Given the description of an element on the screen output the (x, y) to click on. 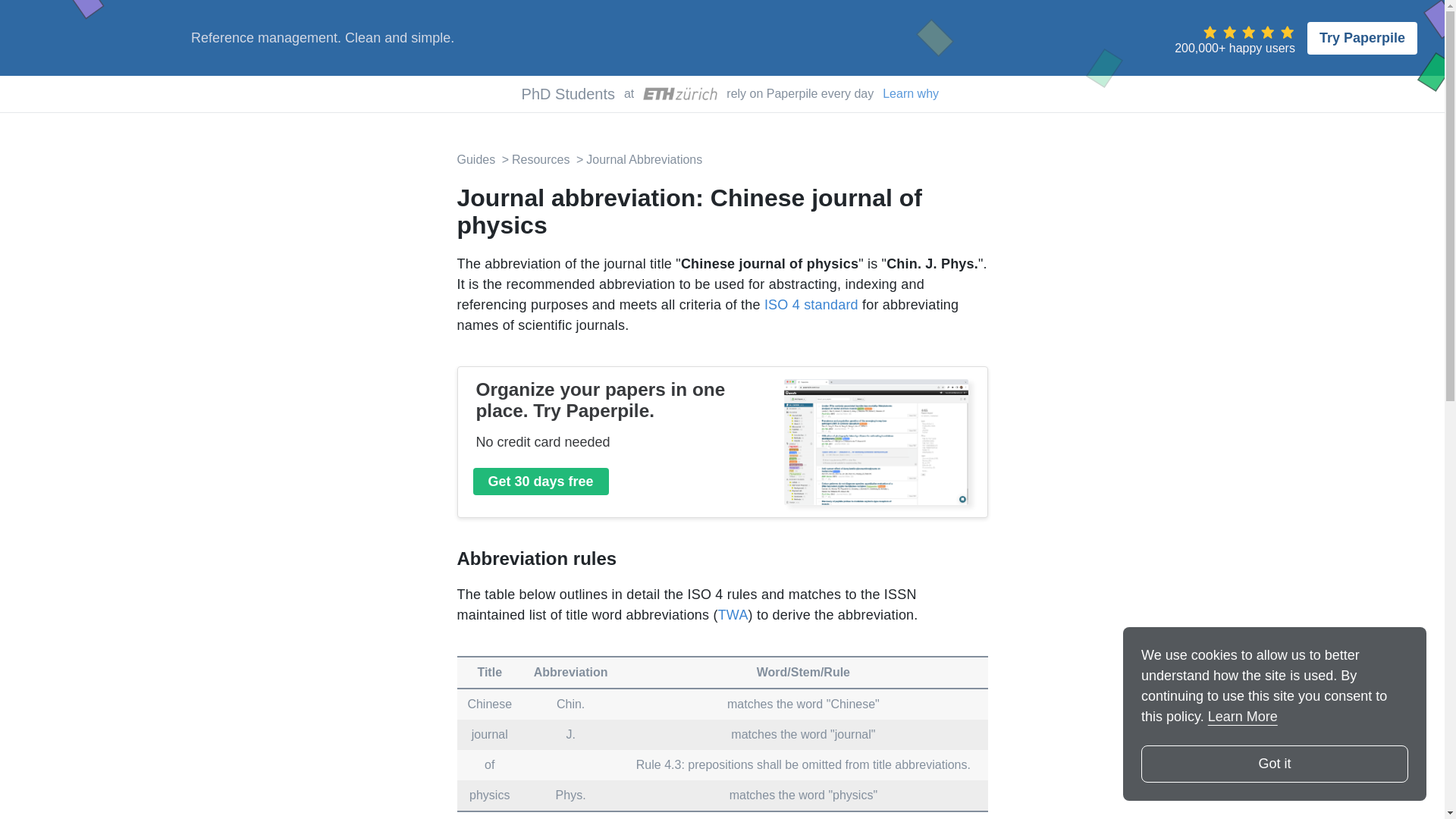
Learn why (910, 93)
Reference management. Clean and simple. (322, 37)
Guides (476, 159)
ISO 4 standard (811, 304)
Get 30 days free (540, 481)
Journal Abbreviations (637, 159)
Learn More (1243, 716)
Got it (1274, 763)
Try Paperpile (1361, 37)
Resources (534, 159)
TWA (732, 614)
